Given the description of an element on the screen output the (x, y) to click on. 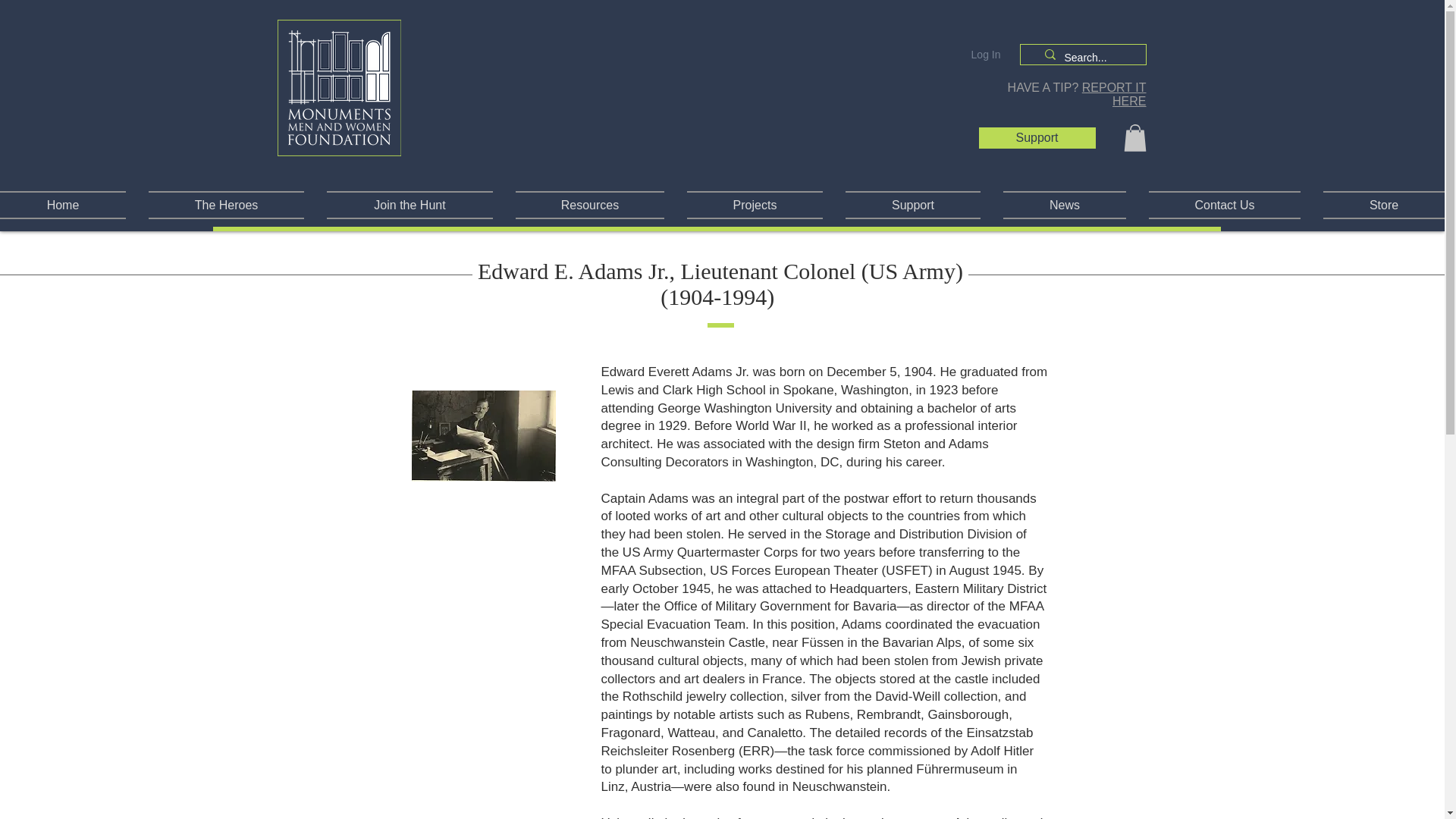
Home (68, 204)
The Heroes (225, 204)
Join the Hunt (409, 204)
Resources (589, 204)
Projects (754, 204)
Support (912, 204)
Support (1037, 137)
HAVE A TIP? REPORT IT HERE (1077, 94)
Log In (985, 55)
